Given the description of an element on the screen output the (x, y) to click on. 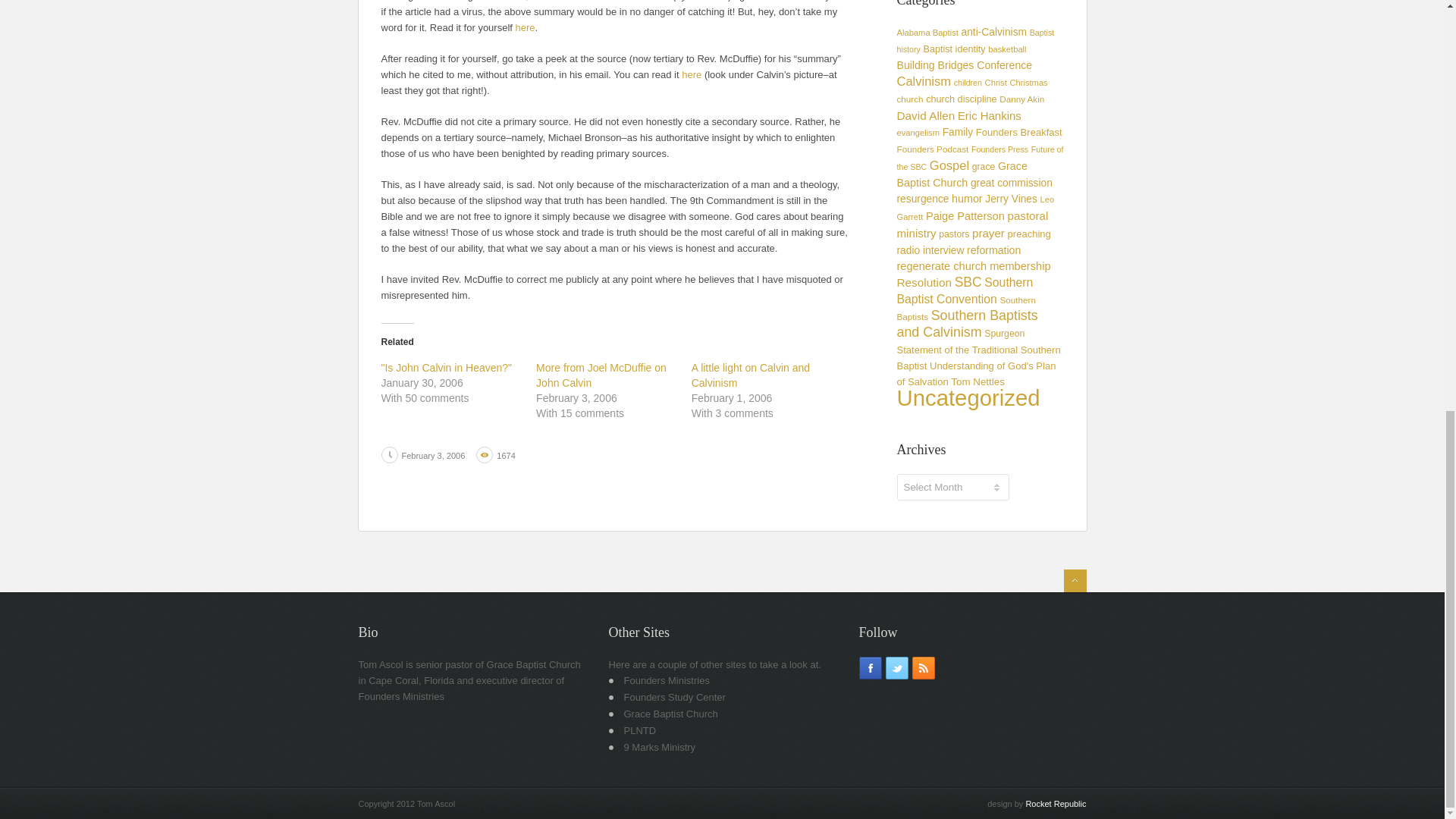
"Is John Calvin in Heaven?" (446, 367)
More from Joel McDuffie on John Calvin (600, 375)
here (691, 74)
A little light on Calvin and Calvinism (750, 375)
1674 (505, 455)
here (525, 27)
